Given the description of an element on the screen output the (x, y) to click on. 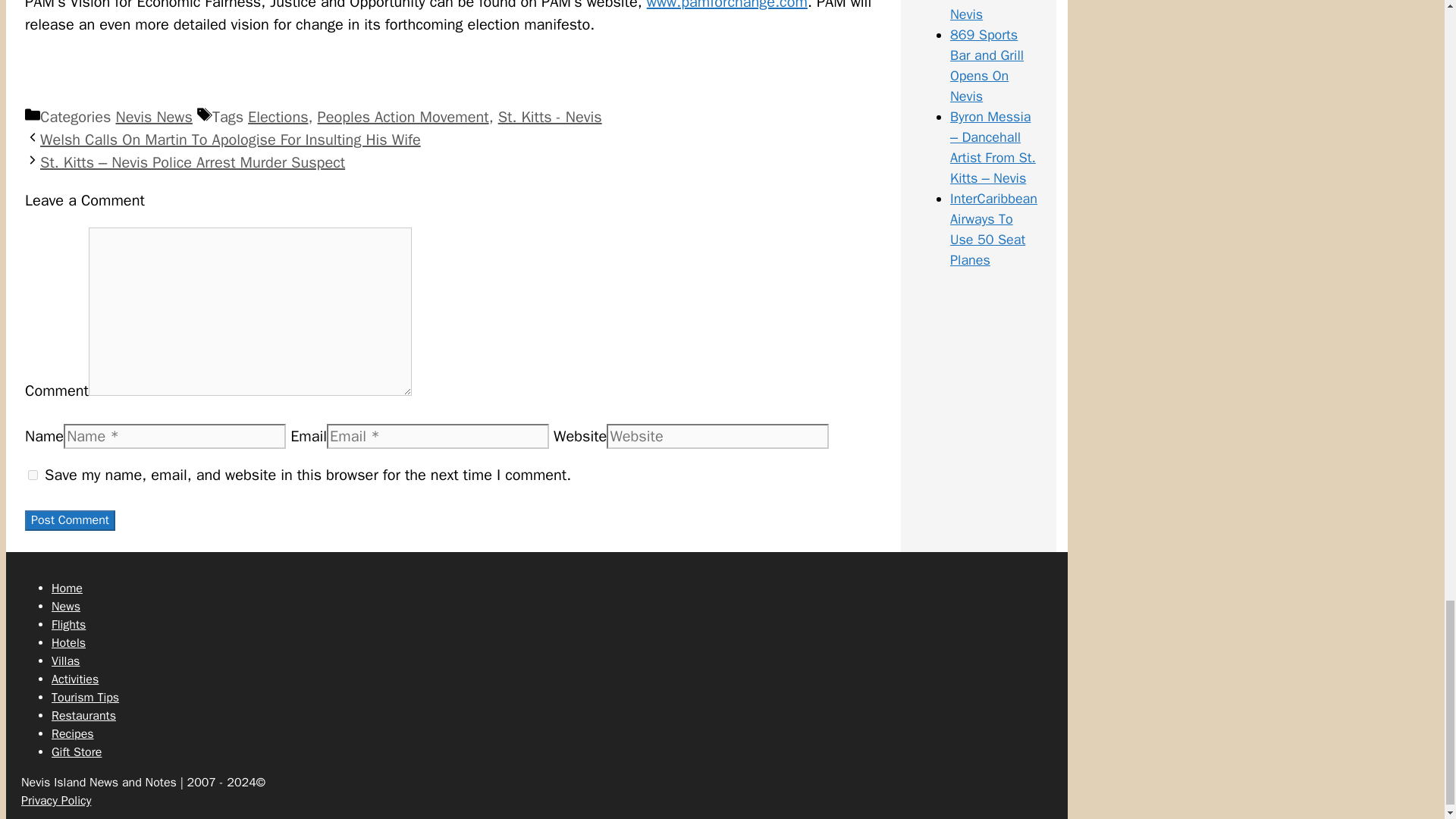
Peoples Action Movement (403, 116)
www.pamforchange.com (727, 5)
Post Comment (69, 520)
yes (32, 474)
Welsh Calls On Martin To Apologise For Insulting His Wife (230, 139)
Nevis News (153, 116)
St. Kitts - Nevis (549, 116)
Elections (277, 116)
Post Comment (69, 520)
